Given the description of an element on the screen output the (x, y) to click on. 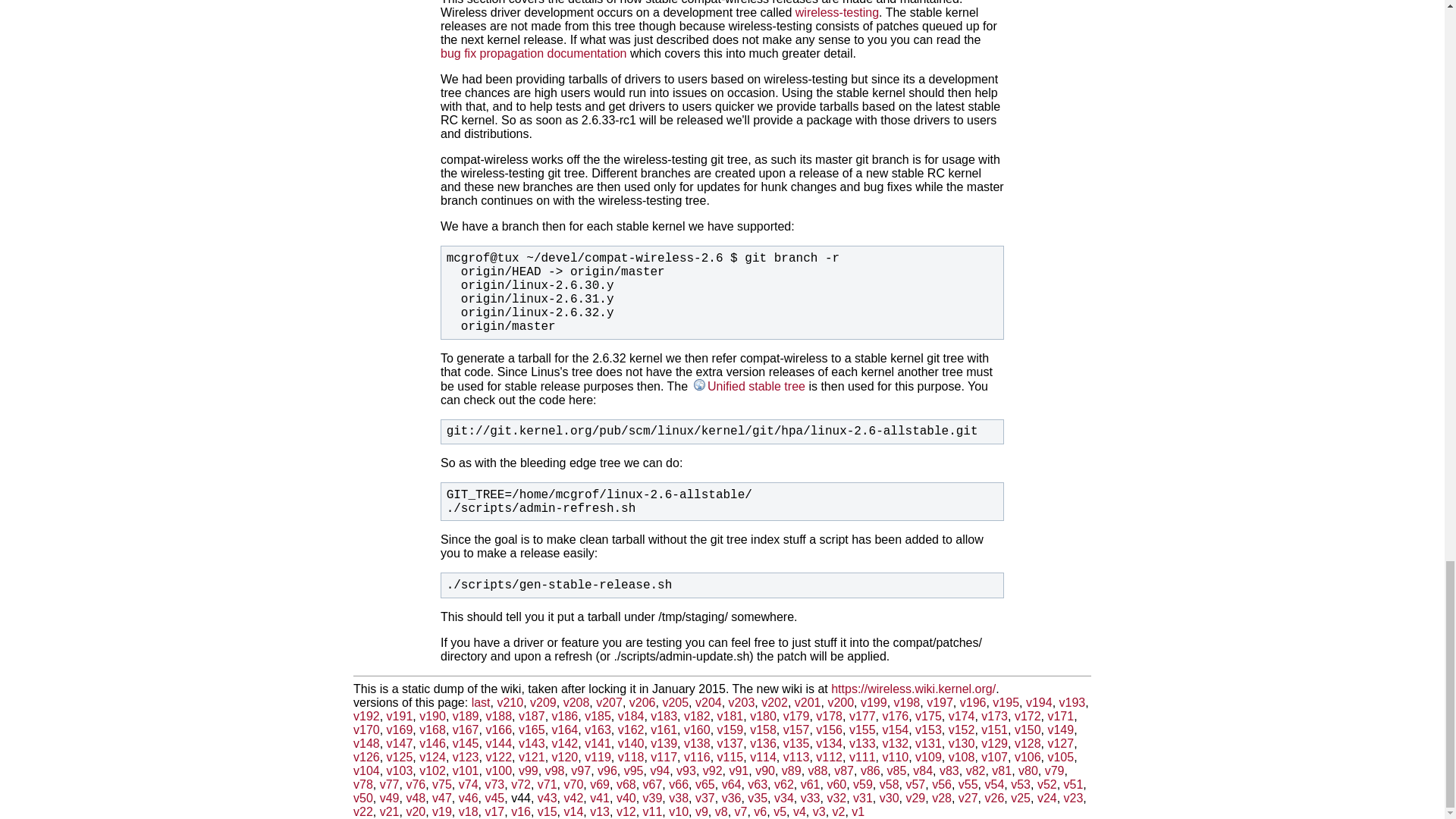
last (480, 702)
bug fix propagation documentation (534, 52)
wireless-testing (836, 11)
Unified stable tree (748, 386)
